Given the description of an element on the screen output the (x, y) to click on. 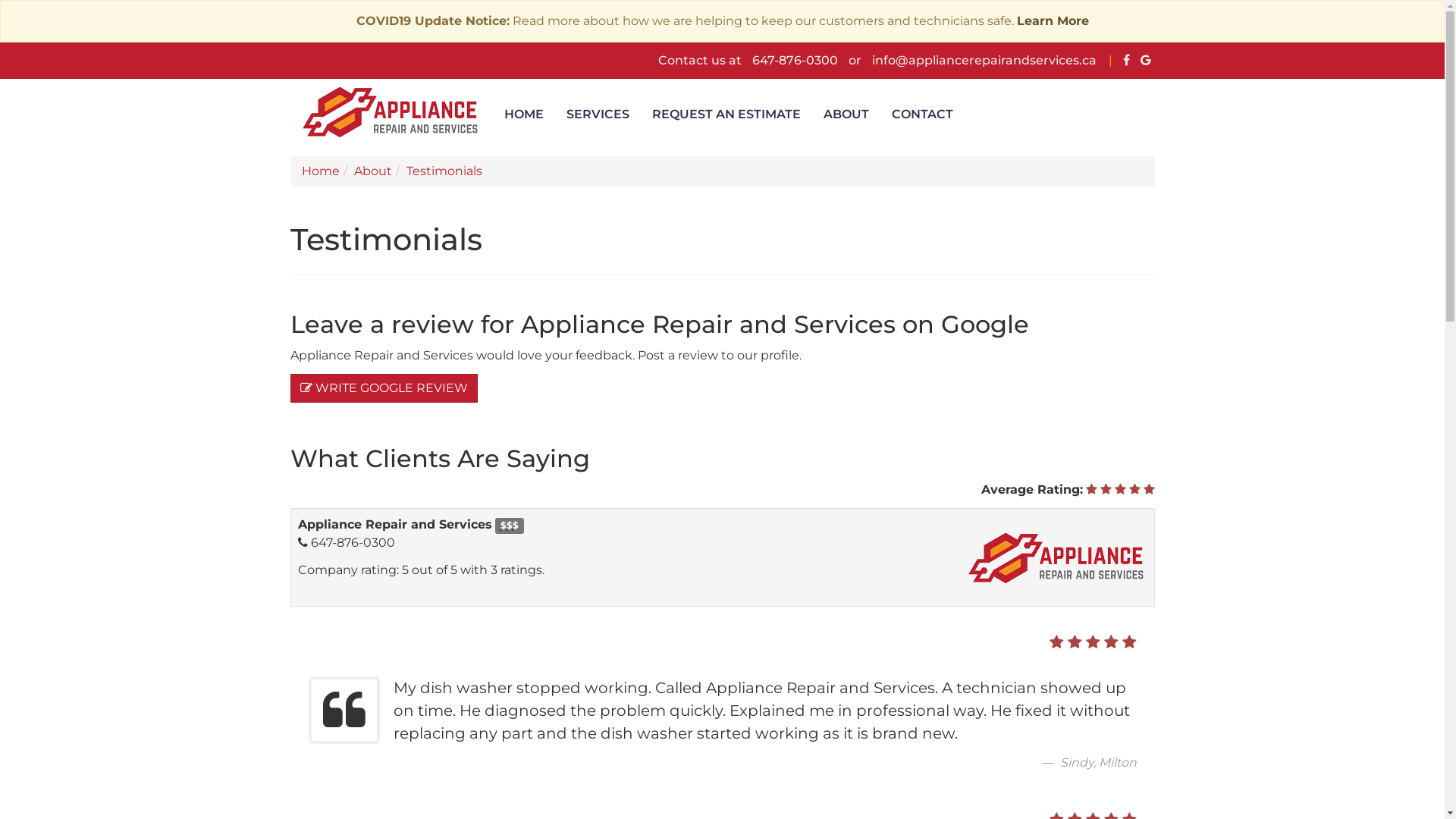
647-876-0300 Element type: text (794, 60)
info@appliancerepairandservices.ca Element type: text (984, 60)
Learn More Element type: text (1052, 20)
Home Element type: text (320, 170)
Review Us on Google Element type: hover (1145, 60)
Follow Us on Facebook Element type: hover (1125, 60)
Home Element type: hover (391, 114)
ABOUT Element type: text (845, 114)
CONTACT Element type: text (921, 114)
REQUEST AN ESTIMATE Element type: text (725, 114)
About Element type: text (372, 170)
Testimonials Element type: text (444, 170)
WRITE GOOGLE REVIEW Element type: text (382, 387)
SERVICES Element type: text (597, 114)
HOME Element type: text (523, 114)
